Given the description of an element on the screen output the (x, y) to click on. 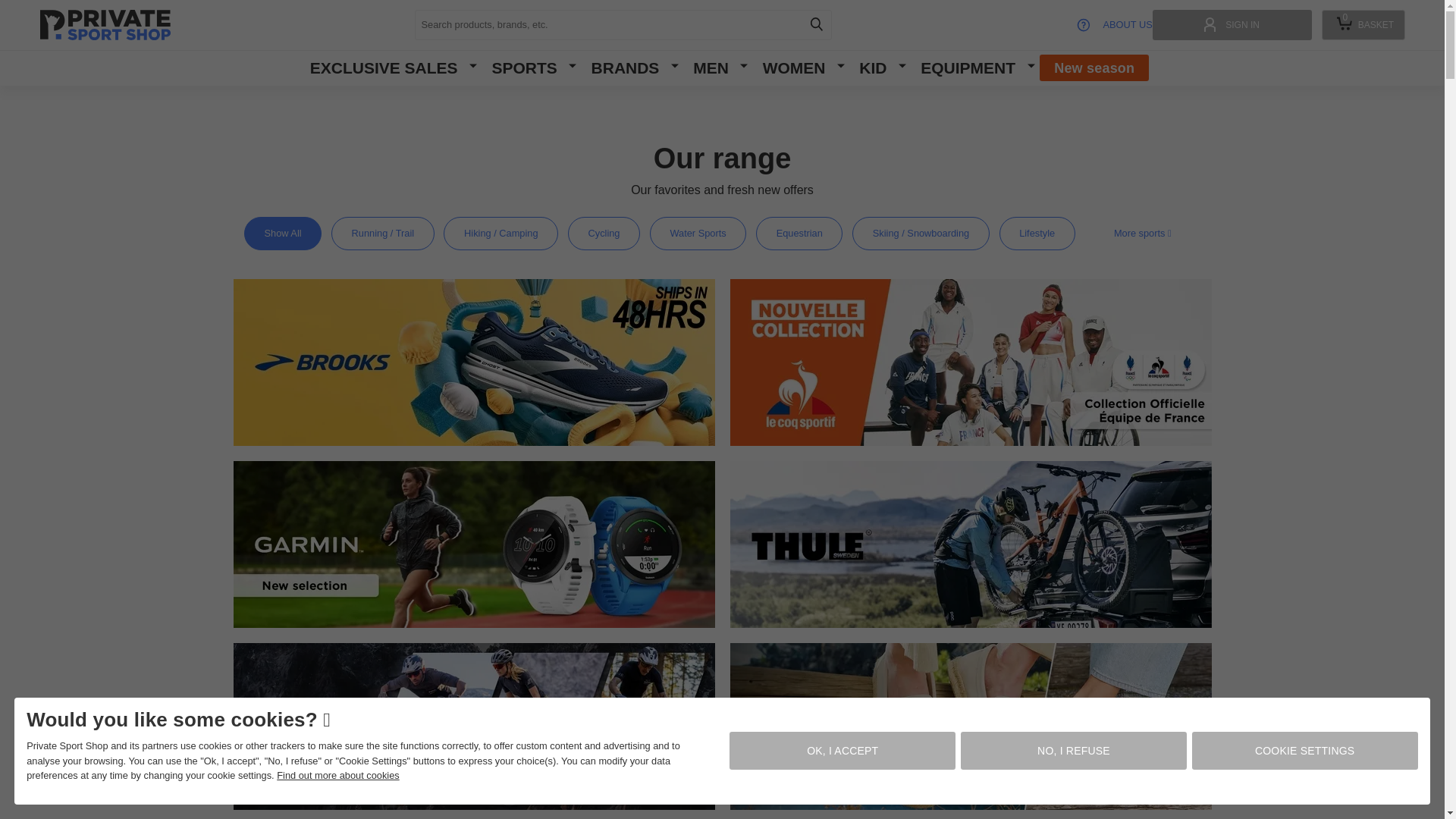
COOKIE SETTINGS (1362, 24)
WOMEN (1305, 750)
OK, I ACCEPT (793, 67)
SPORTS (842, 750)
MEN (524, 67)
KID (711, 67)
Search products, brands, etc. (872, 67)
BRANDS (622, 24)
EXCLUSIVE SALES (625, 67)
Find out more about cookies (384, 67)
PrivateSportShop (337, 775)
New season (104, 24)
SIGN IN (1093, 67)
ABOUT US (1232, 24)
